Given the description of an element on the screen output the (x, y) to click on. 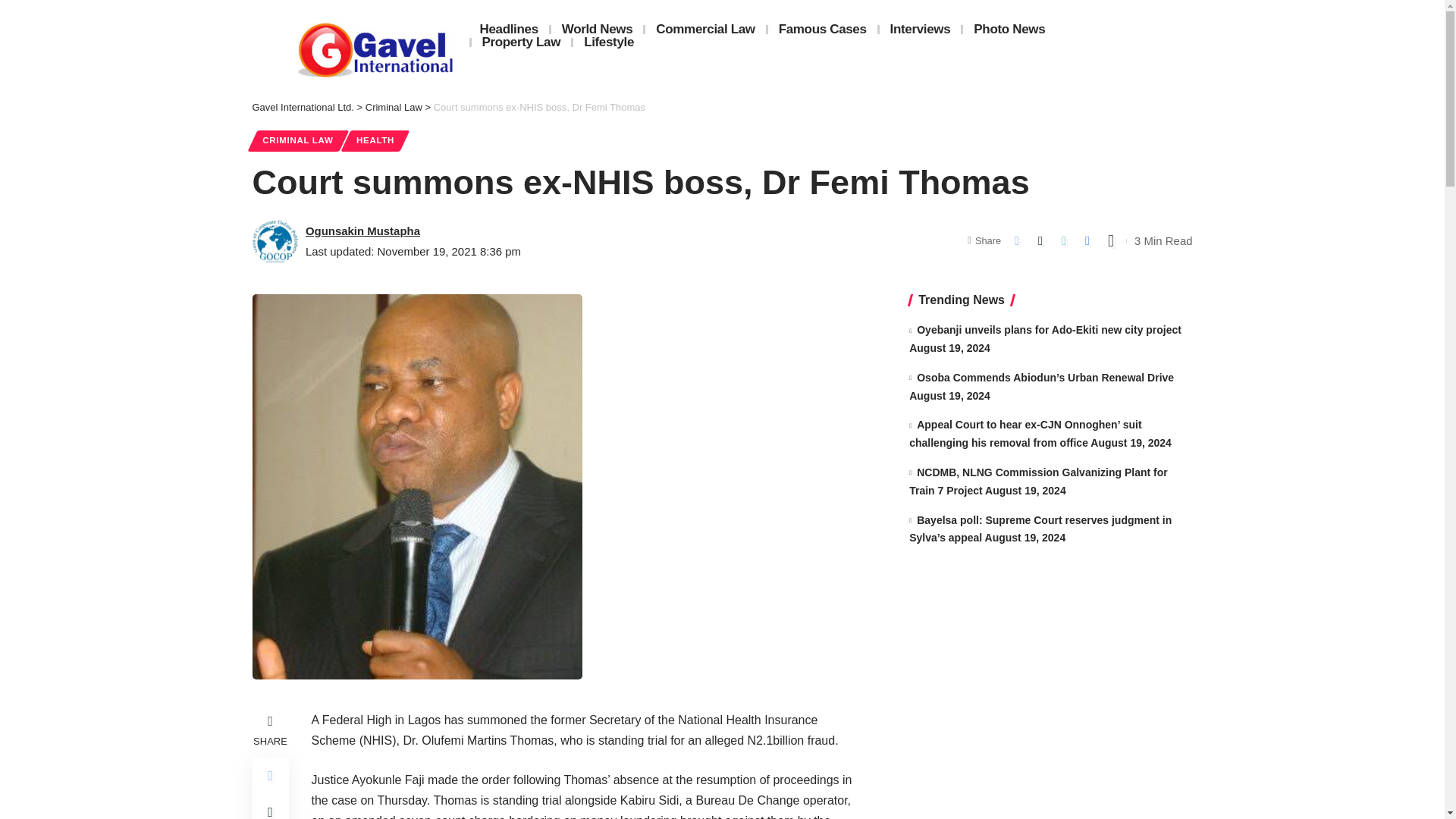
Property Law (521, 42)
Go to Gavel International Ltd.. (302, 107)
Gavel International Ltd. (302, 107)
HEALTH (375, 140)
NCDMB, NLNG Commission Galvanizing Plant for Train 7 Project (1037, 481)
World News (597, 29)
CRIMINAL LAW (297, 140)
Criminal Law (393, 107)
Famous Cases (822, 29)
Commercial Law (705, 29)
